Given the description of an element on the screen output the (x, y) to click on. 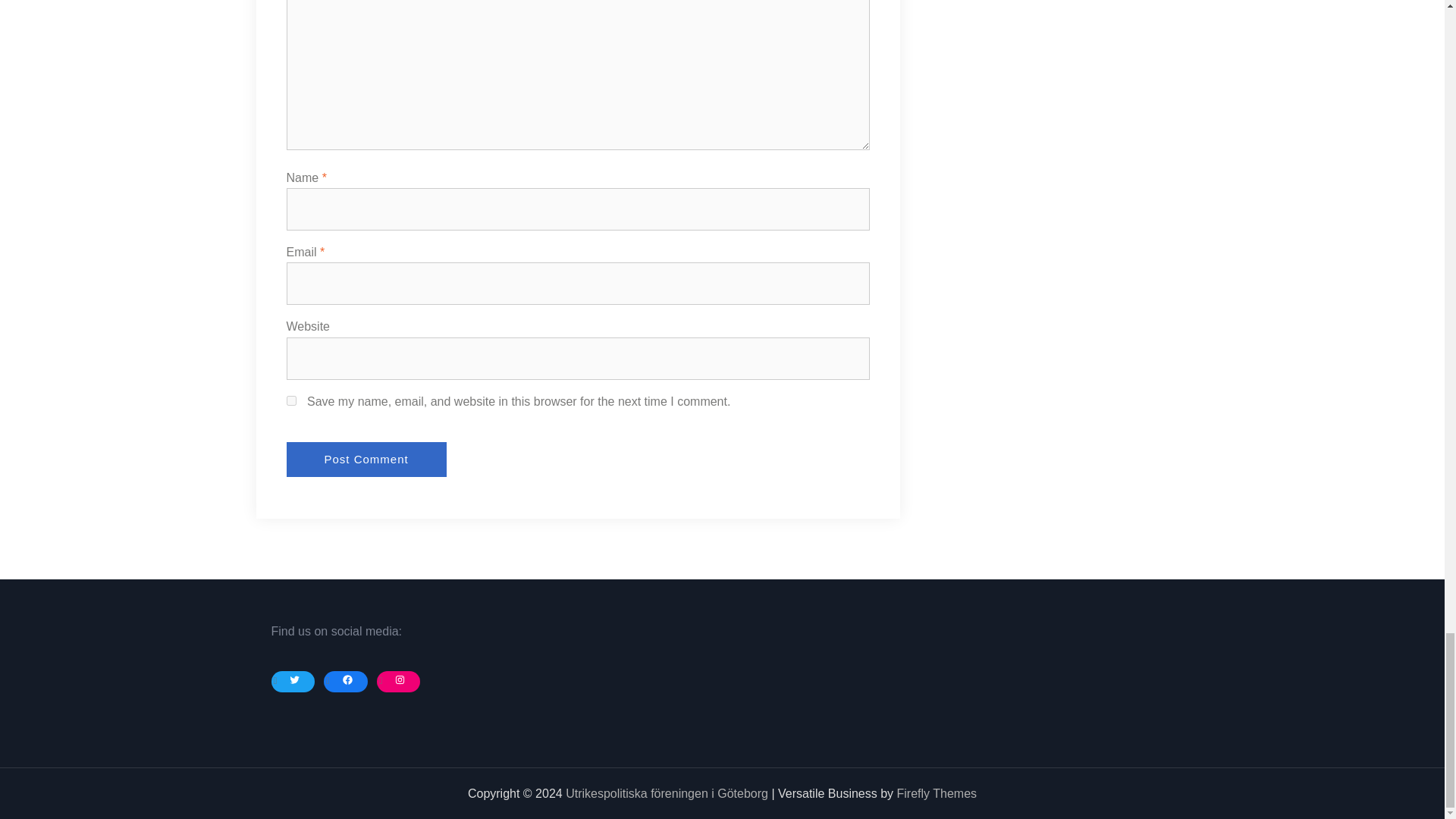
Post Comment (366, 459)
Twitter (295, 679)
yes (291, 400)
Instagram (400, 679)
Post Comment (366, 459)
Facebook (347, 679)
Firefly Themes (936, 793)
